Given the description of an element on the screen output the (x, y) to click on. 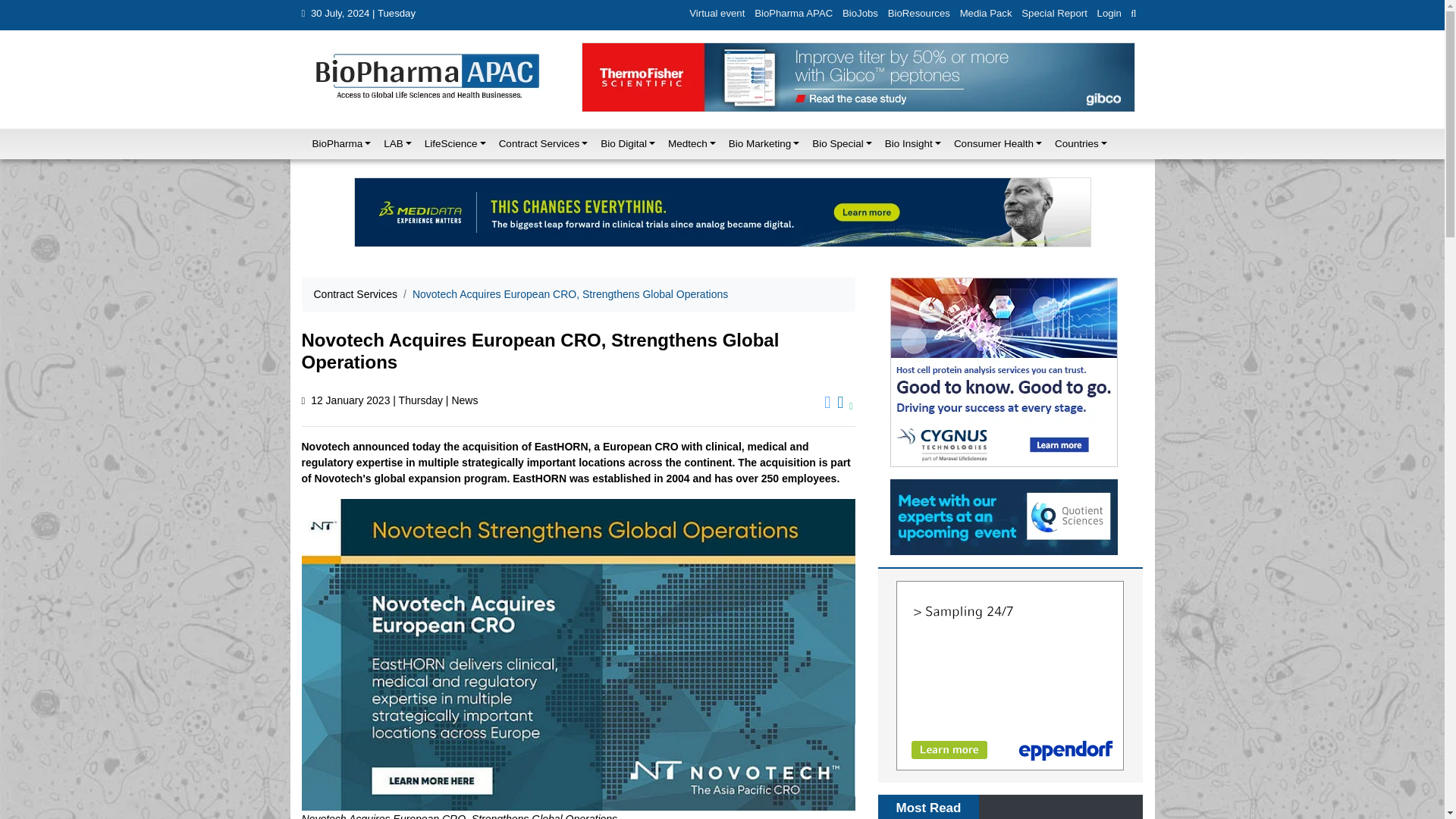
Contract Services (539, 143)
BioJobs (860, 13)
BioResources (918, 13)
BioPharma (337, 143)
Media Pack (985, 13)
LAB (393, 143)
LifeScience (451, 143)
Special Report (1054, 13)
Login (1108, 13)
BioPharma APAC (793, 13)
Virtual event (716, 13)
